Given the description of an element on the screen output the (x, y) to click on. 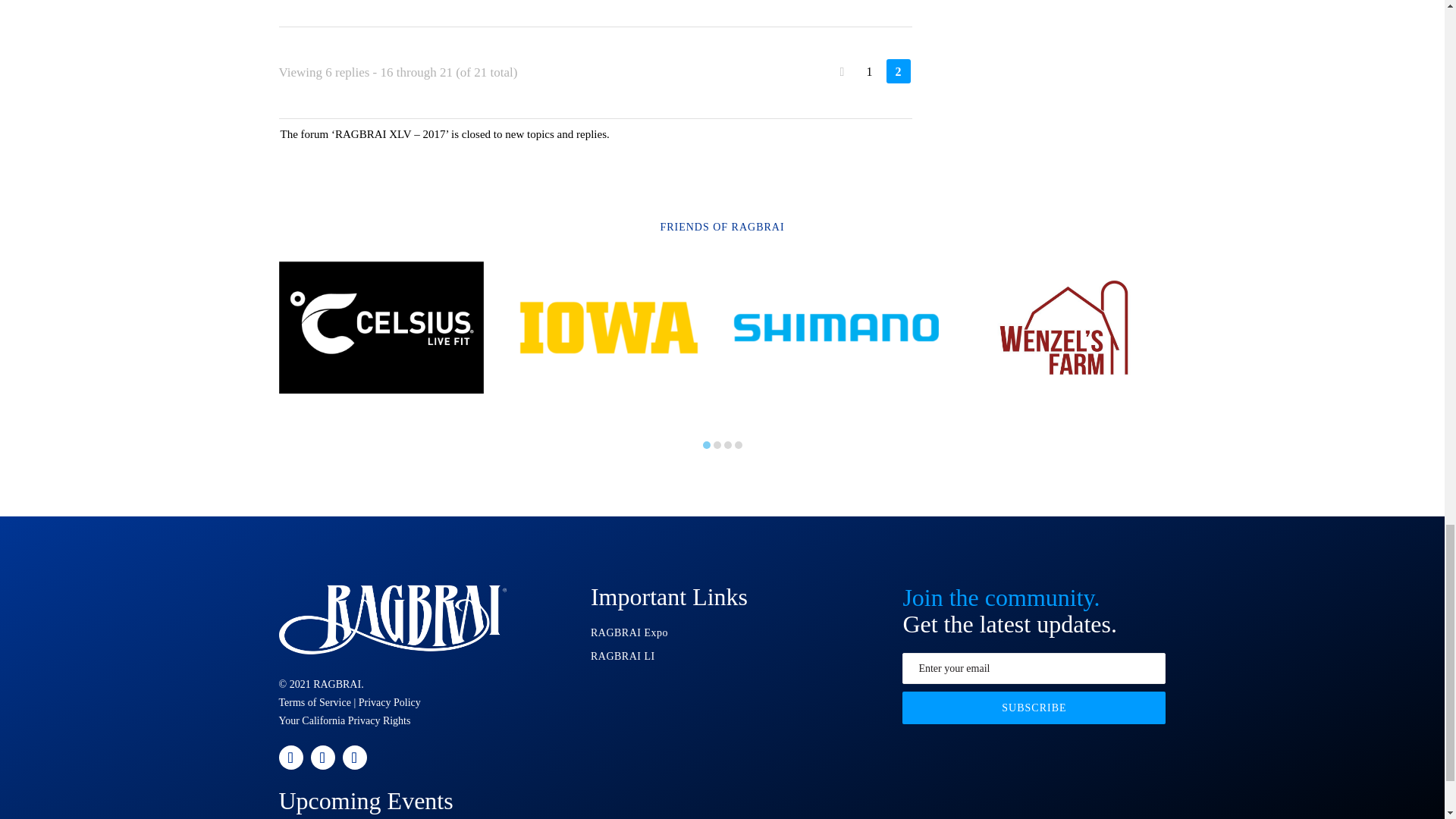
Subscribe (1034, 707)
